Given the description of an element on the screen output the (x, y) to click on. 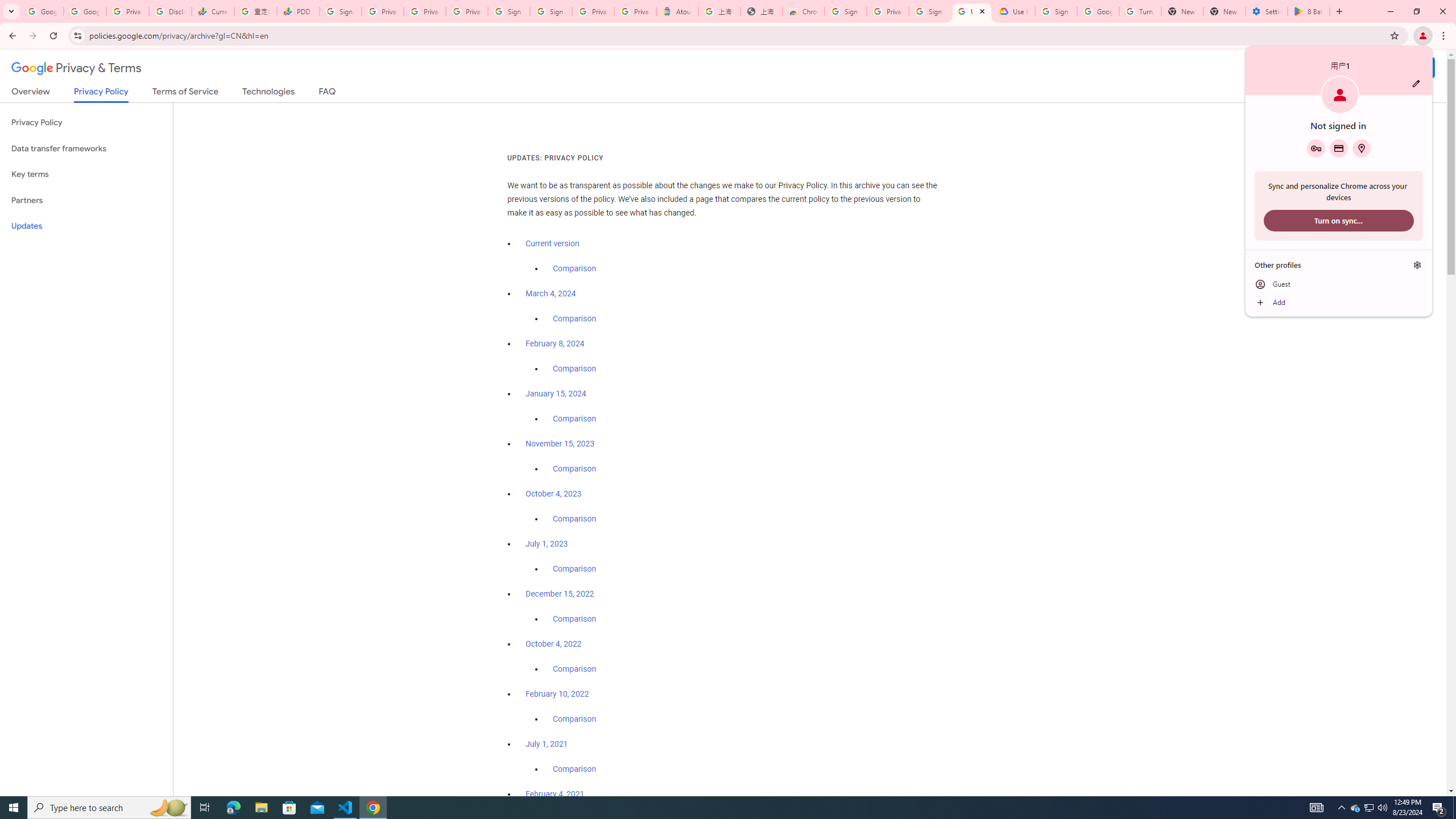
Manage profiles (1417, 265)
Customize profile (1415, 83)
Google Chrome - 1 running window (373, 807)
FAQ (327, 93)
Sign in - Google Accounts (845, 11)
Privacy Checkup (467, 11)
Type here to search (108, 807)
Show desktop (1454, 807)
New Tab (1224, 11)
Google Password Manager (1315, 148)
